Given the description of an element on the screen output the (x, y) to click on. 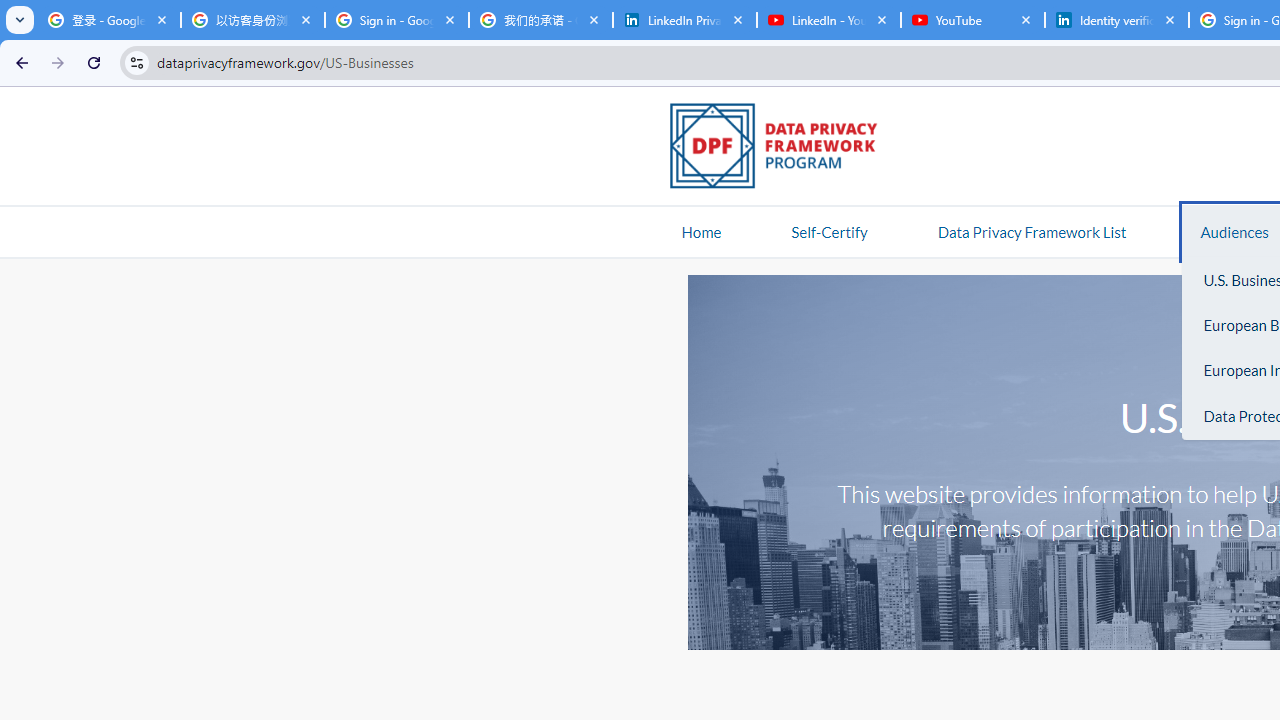
Data Privacy Framework Logo - Link to Homepage (783, 149)
YouTube (972, 20)
LinkedIn Privacy Policy (684, 20)
LinkedIn - YouTube (828, 20)
Data Privacy Framework List (1031, 231)
Self-Certify (829, 231)
Sign in - Google Accounts (396, 20)
